Given the description of an element on the screen output the (x, y) to click on. 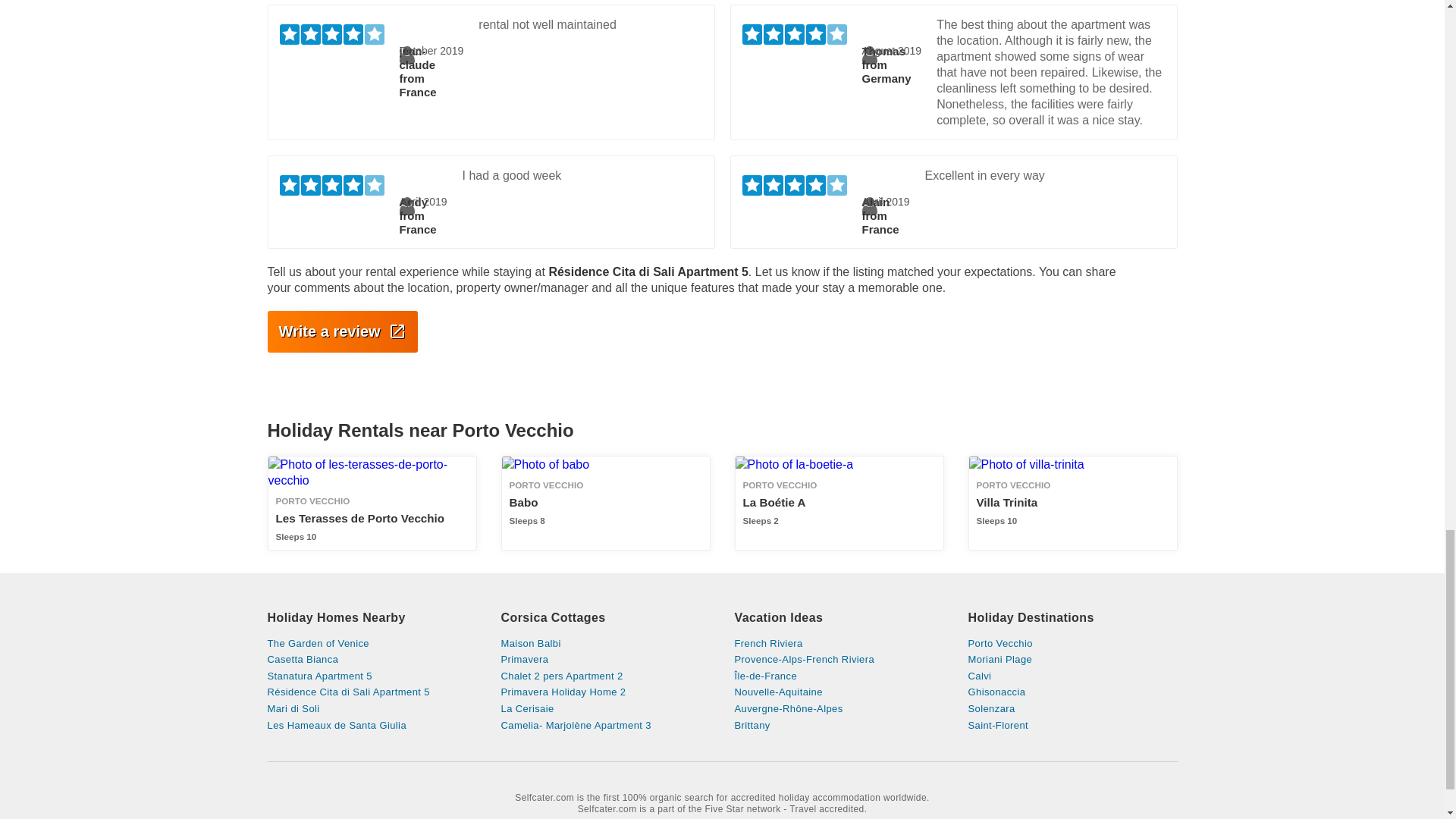
Self-catering Les Hameaux de Santa Giulia (371, 725)
Self-catering Primavera Holiday Home 2 (605, 692)
Self-catering Mari di Soli (371, 708)
Self-catering Maison Balbi (605, 644)
Write a review (341, 331)
Mari di Soli (371, 708)
Self-catering Casetta Bianca (605, 502)
Self-catering The Garden of Venice (371, 502)
